Given the description of an element on the screen output the (x, y) to click on. 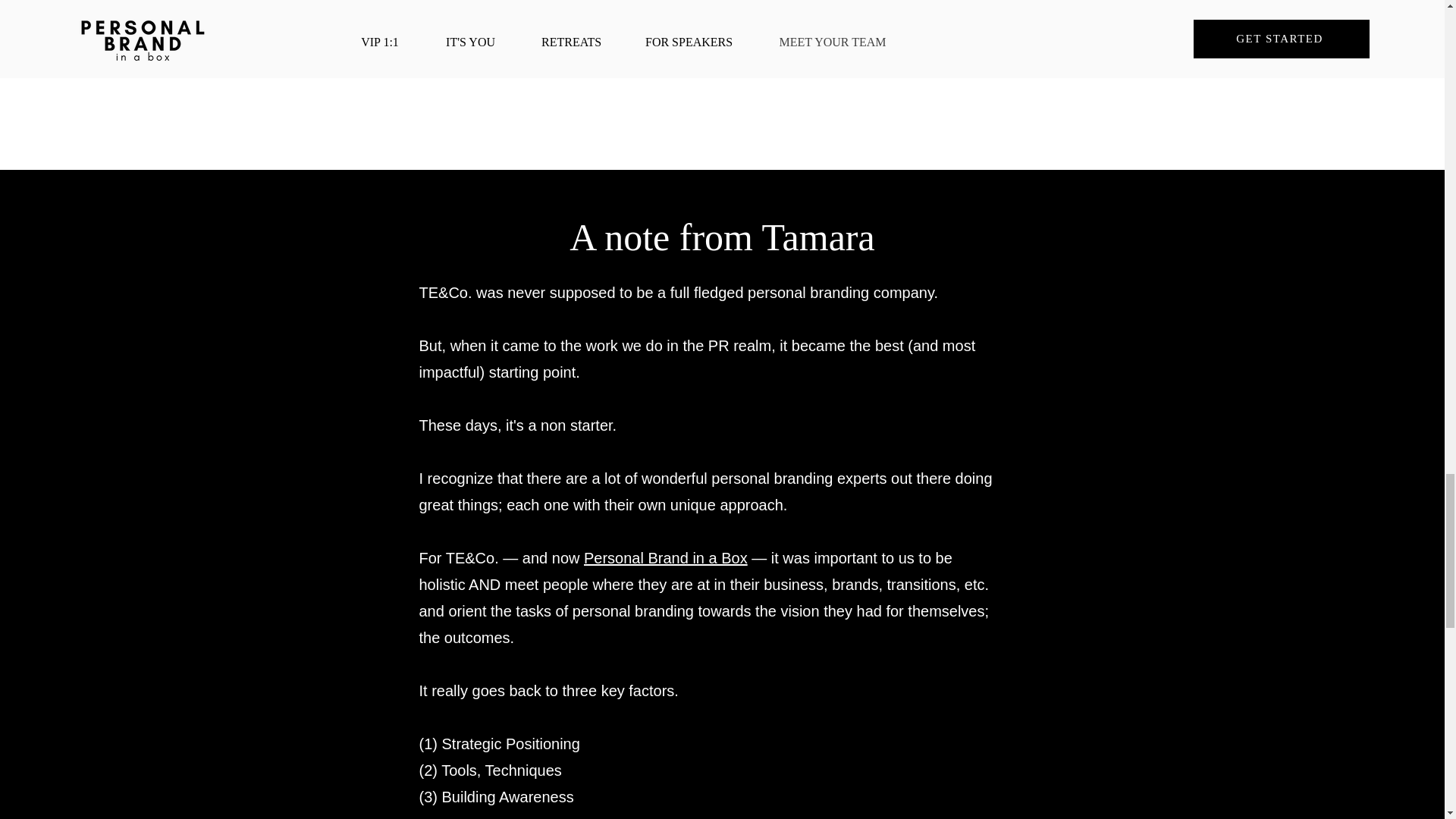
2.jpg (942, 48)
7.jpg (762, 48)
8.jpg (1122, 48)
Personal Brand in a Box (665, 557)
